Given the description of an element on the screen output the (x, y) to click on. 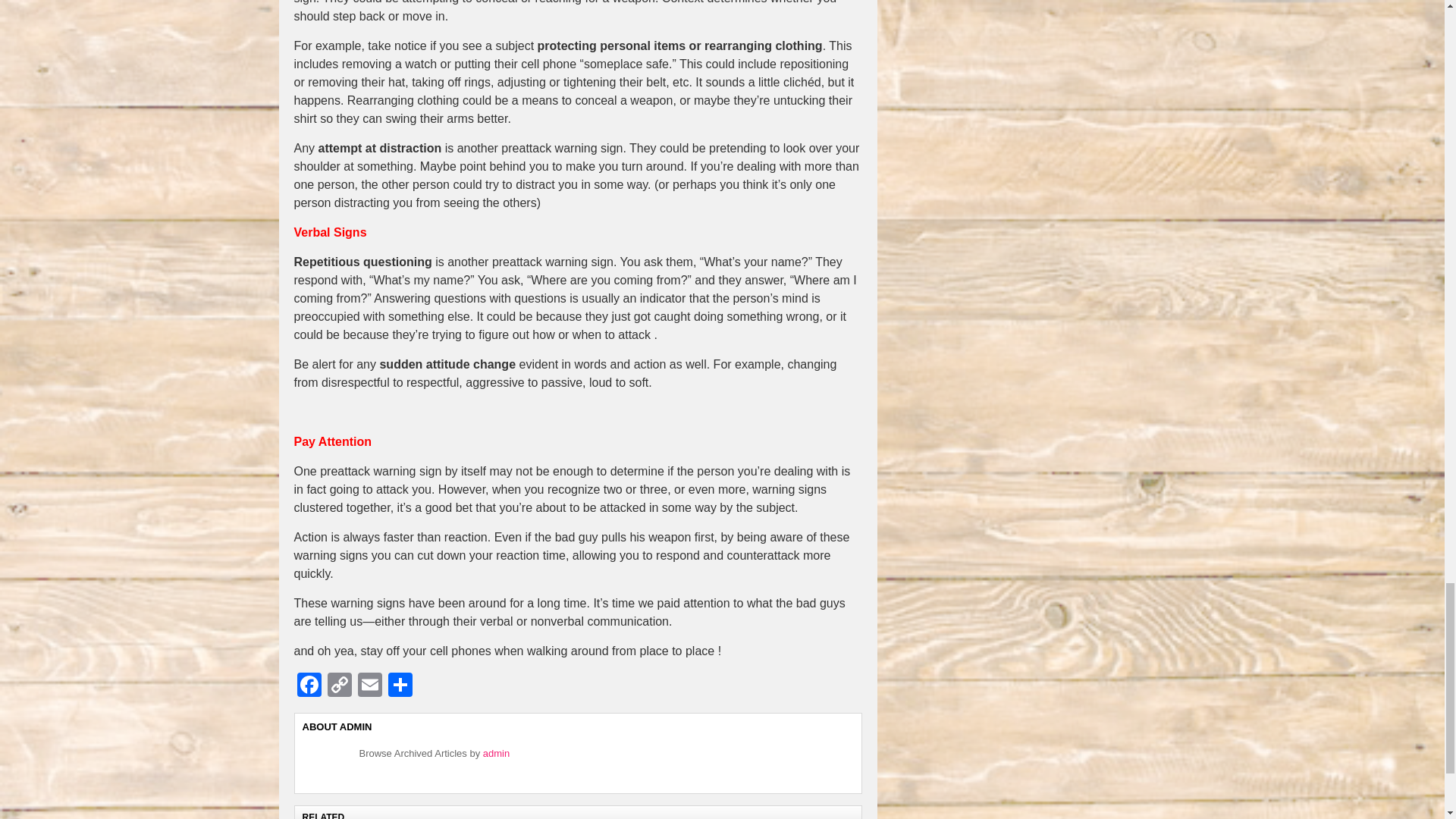
Facebook (309, 686)
Copy Link (339, 686)
Email (370, 686)
